Given the description of an element on the screen output the (x, y) to click on. 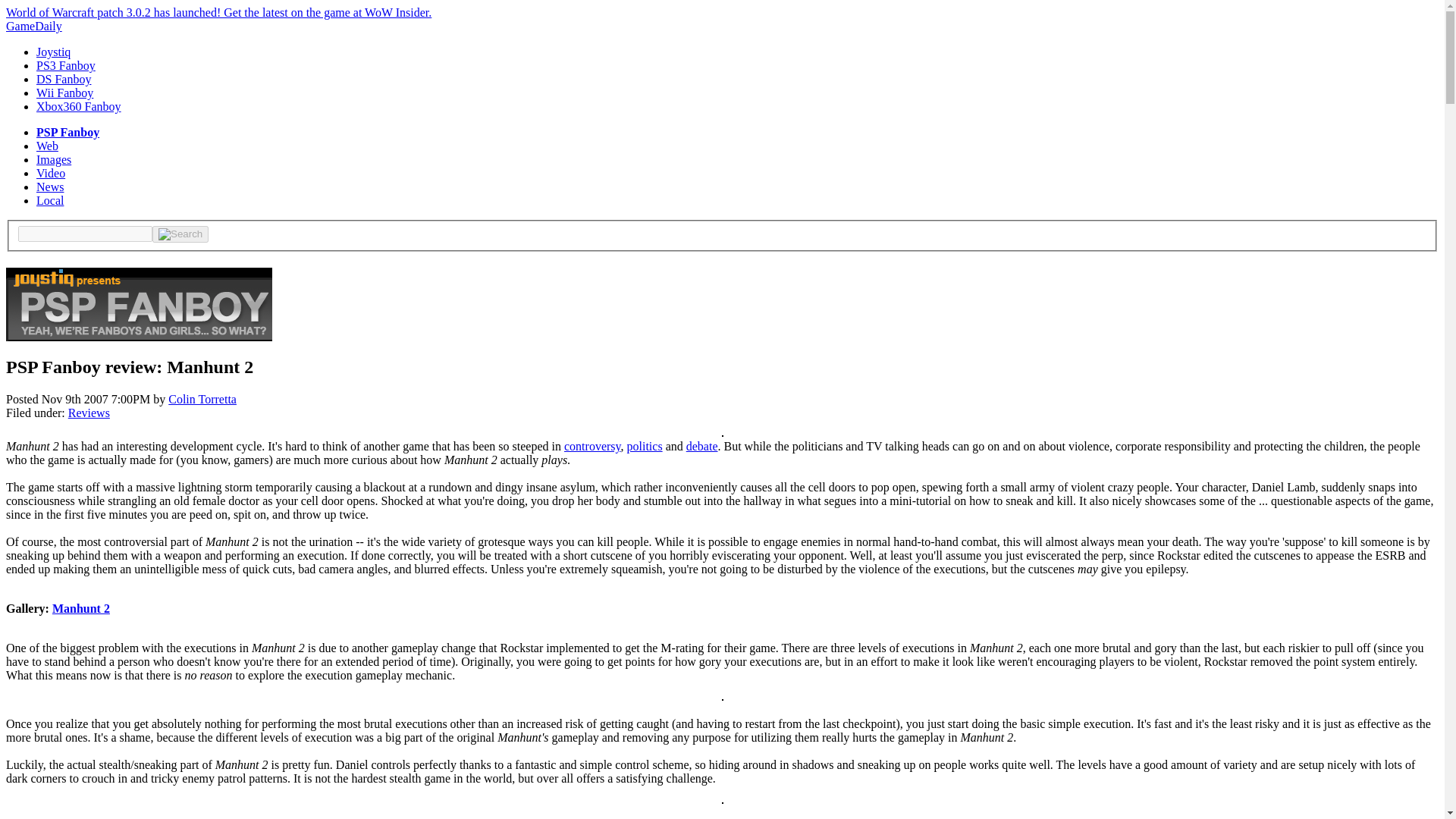
Joystiq (52, 51)
controversy (592, 445)
DS Fanboy (63, 78)
PSP Fanboy (67, 132)
Local (50, 200)
Colin Torretta (201, 399)
PSP Fanboy home (138, 332)
Wii Fanboy (64, 92)
Images (53, 159)
GameDaily (33, 25)
PS3 Fanboy (66, 65)
Xbox360 Fanboy (78, 106)
debate (701, 445)
Reviews (89, 412)
Xbox360 Fanboy (78, 106)
